Given the description of an element on the screen output the (x, y) to click on. 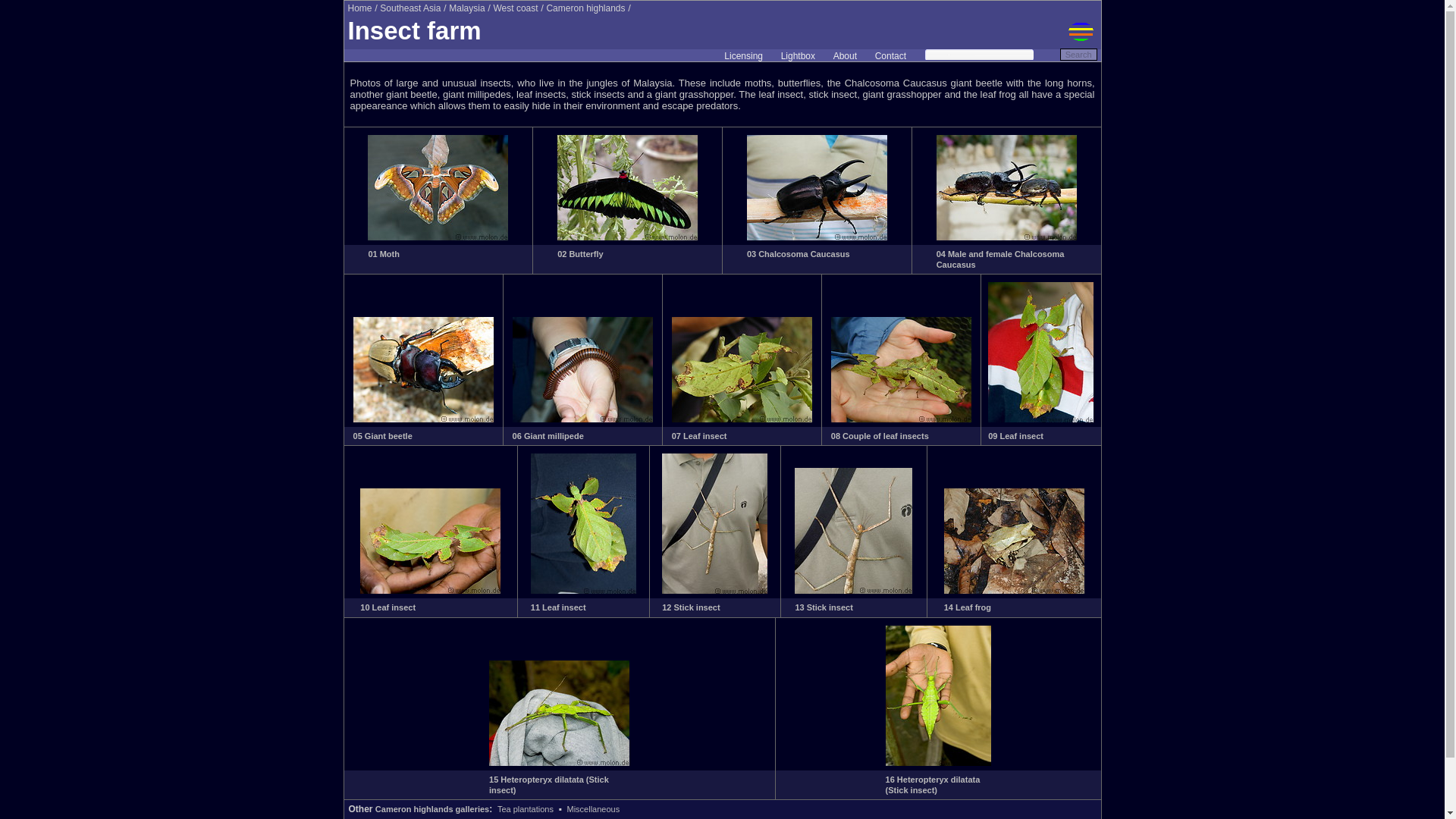
Search (1078, 54)
Image MA11000 - click to enlarge (627, 236)
Image MA11012 - click to enlarge (1013, 590)
13 Stick insect (822, 606)
Information on how to license images (743, 55)
Lightbox (797, 55)
Image MA11013 - click to enlarge (558, 762)
Image MA11009 - click to enlarge (583, 590)
Image MA11001 - click to enlarge (816, 236)
Cameron highlands (585, 8)
